Given the description of an element on the screen output the (x, y) to click on. 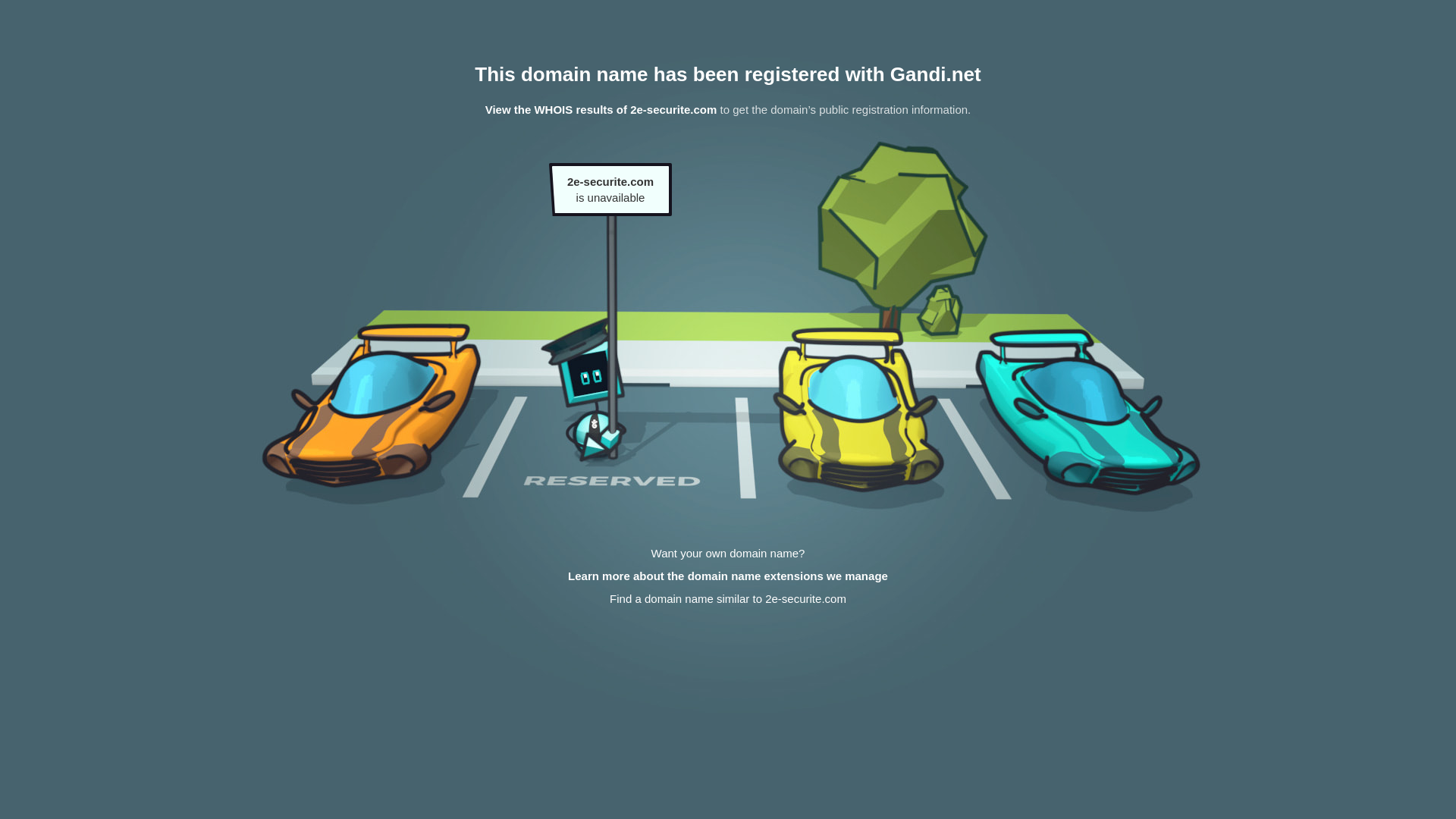
View the WHOIS results of 2e-securite.com Element type: text (601, 109)
Find a domain name similar to 2e-securite.com Element type: text (727, 598)
Learn more about the domain name extensions we manage Element type: text (727, 575)
